Given the description of an element on the screen output the (x, y) to click on. 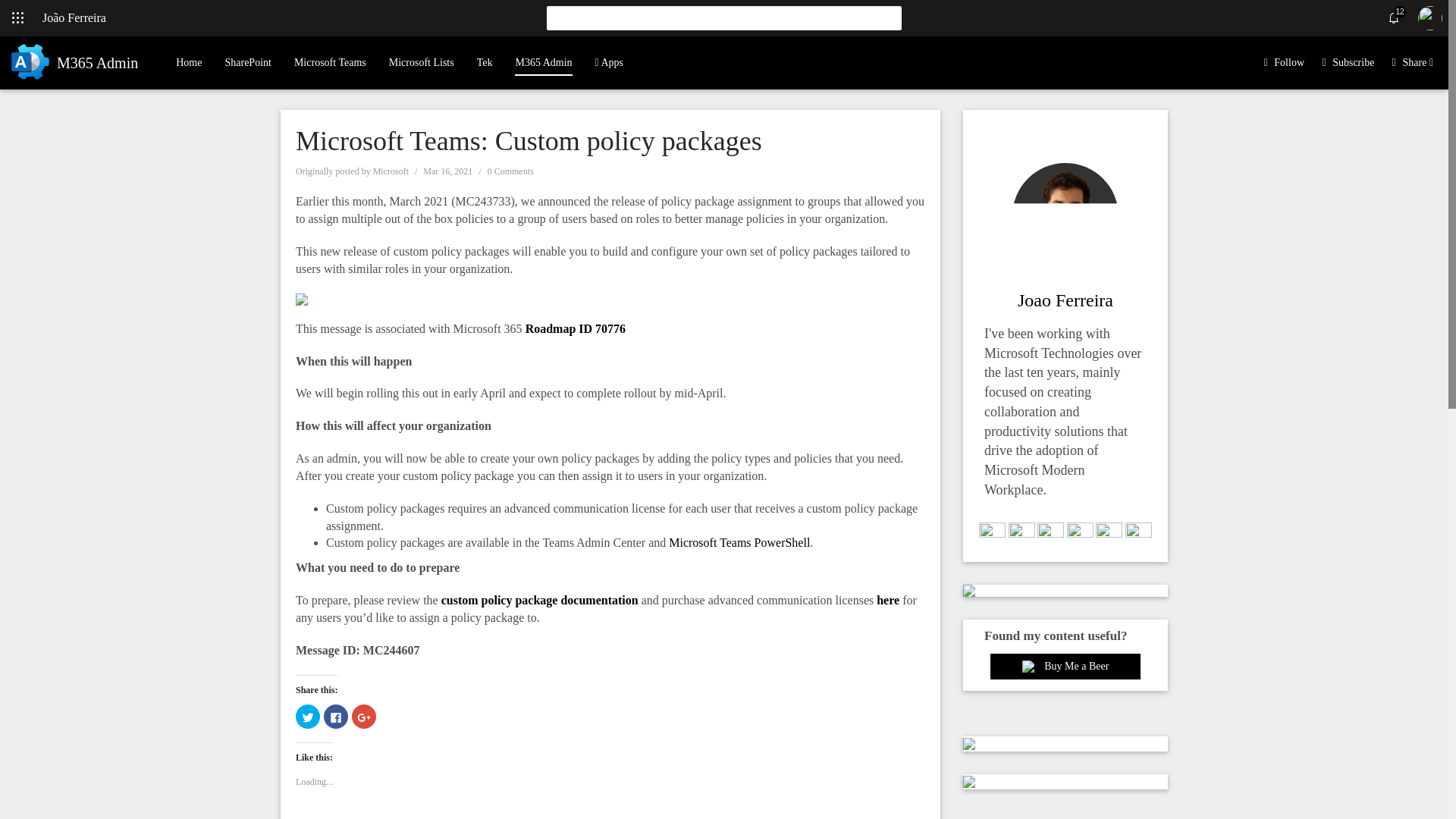
M365 Admin (543, 56)
Click to share on Facebook (335, 716)
Search (889, 17)
Microsoft Lists (421, 62)
Subscribe (1353, 61)
here (889, 599)
0 Comments (510, 171)
Search (889, 17)
Microsoft Teams (330, 62)
Follow (1289, 61)
